Given the description of an element on the screen output the (x, y) to click on. 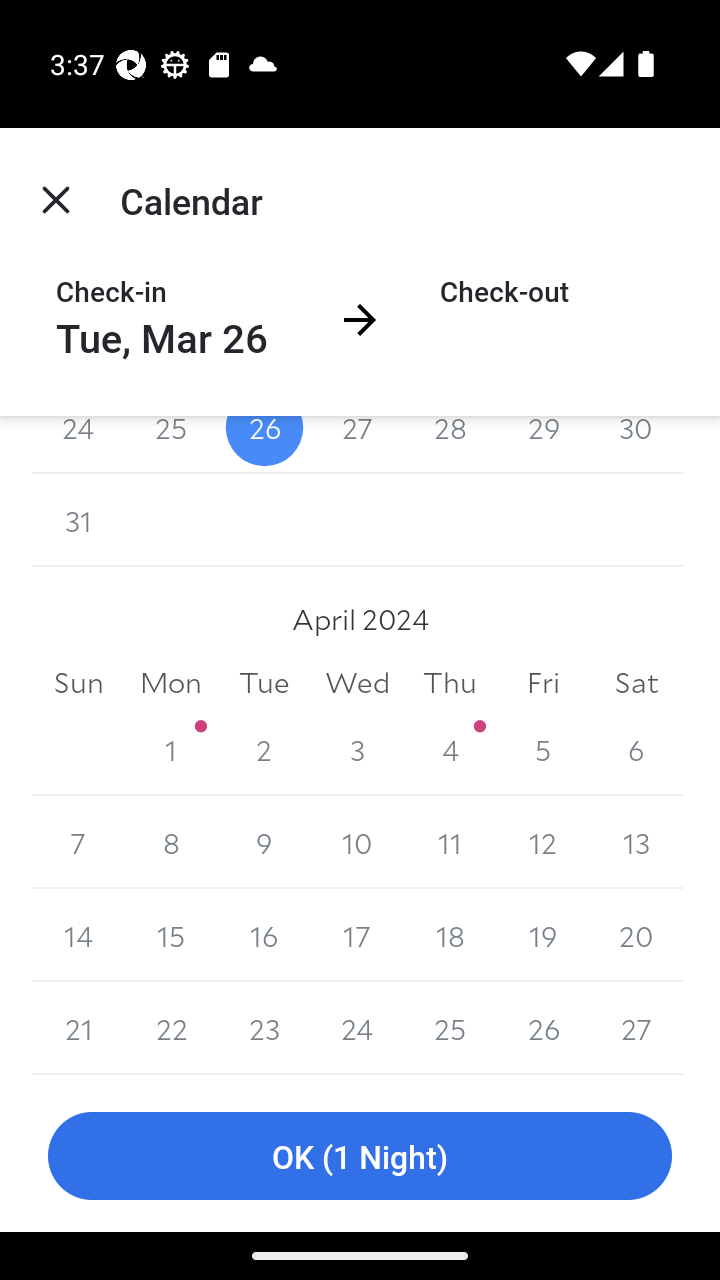
24 24 March 2024 (78, 444)
25 25 March 2024 (171, 444)
26 26 March 2024 (264, 444)
27 27 March 2024 (357, 444)
28 28 March 2024 (449, 444)
29 29 March 2024 (542, 444)
30 30 March 2024 (636, 444)
31 31 March 2024 (78, 520)
Sun (78, 681)
Mon (171, 681)
Tue (264, 681)
Wed (357, 681)
Thu (449, 681)
Fri (542, 681)
Sat (636, 681)
1 1 April 2024 (171, 749)
2 2 April 2024 (264, 749)
3 3 April 2024 (357, 749)
4 4 April 2024 (449, 749)
5 5 April 2024 (542, 749)
6 6 April 2024 (636, 749)
7 7 April 2024 (78, 842)
8 8 April 2024 (171, 842)
9 9 April 2024 (264, 842)
10 10 April 2024 (357, 842)
11 11 April 2024 (449, 842)
12 12 April 2024 (542, 842)
13 13 April 2024 (636, 842)
14 14 April 2024 (78, 935)
15 15 April 2024 (171, 935)
16 16 April 2024 (264, 935)
17 17 April 2024 (357, 935)
18 18 April 2024 (449, 935)
19 19 April 2024 (542, 935)
20 20 April 2024 (636, 935)
21 21 April 2024 (78, 1028)
22 22 April 2024 (171, 1028)
23 23 April 2024 (264, 1028)
24 24 April 2024 (357, 1028)
25 25 April 2024 (449, 1028)
26 26 April 2024 (542, 1028)
27 27 April 2024 (636, 1028)
OK (1 Night) (359, 1156)
